Given the description of an element on the screen output the (x, y) to click on. 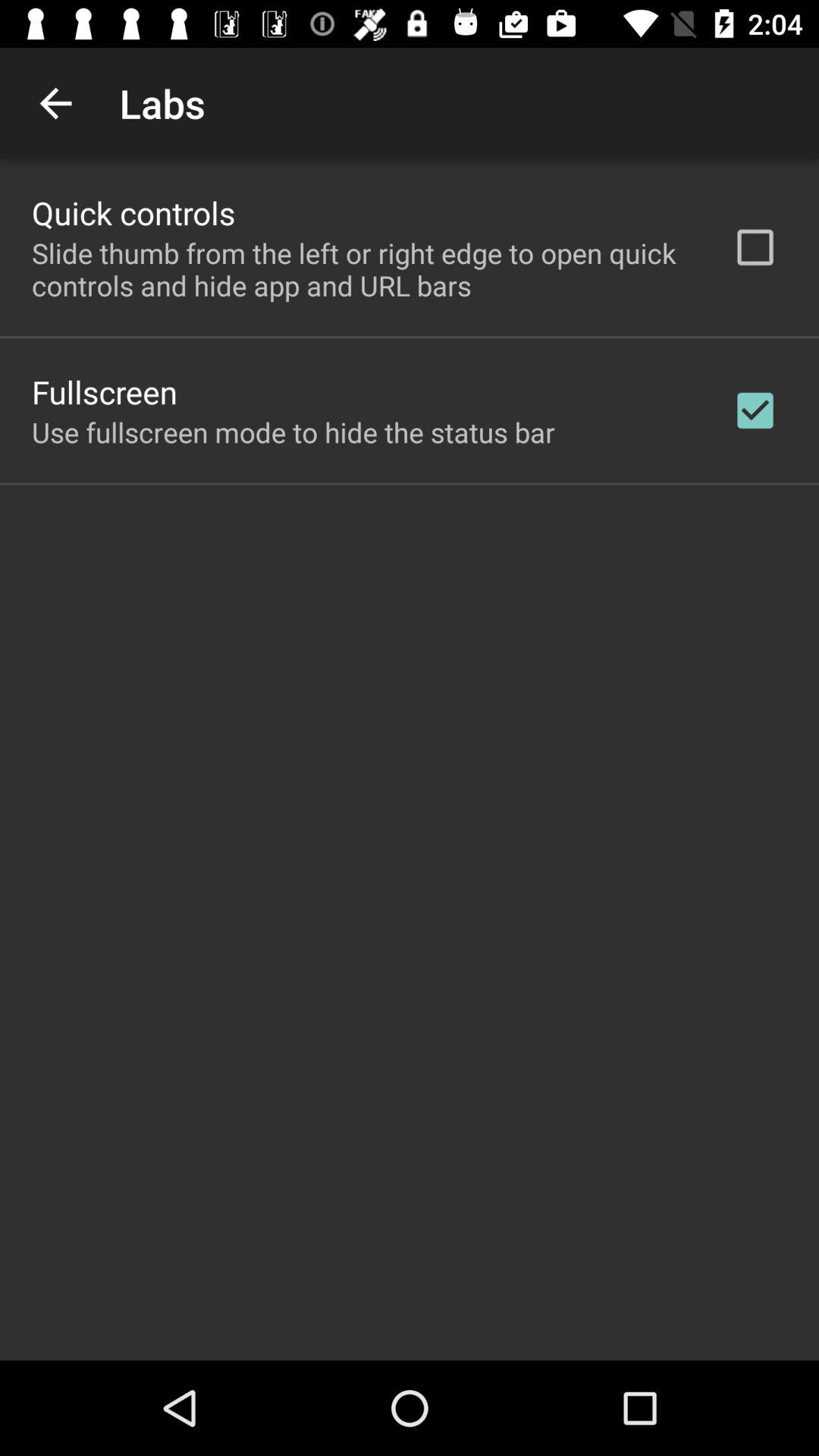
click use fullscreen mode item (293, 432)
